Given the description of an element on the screen output the (x, y) to click on. 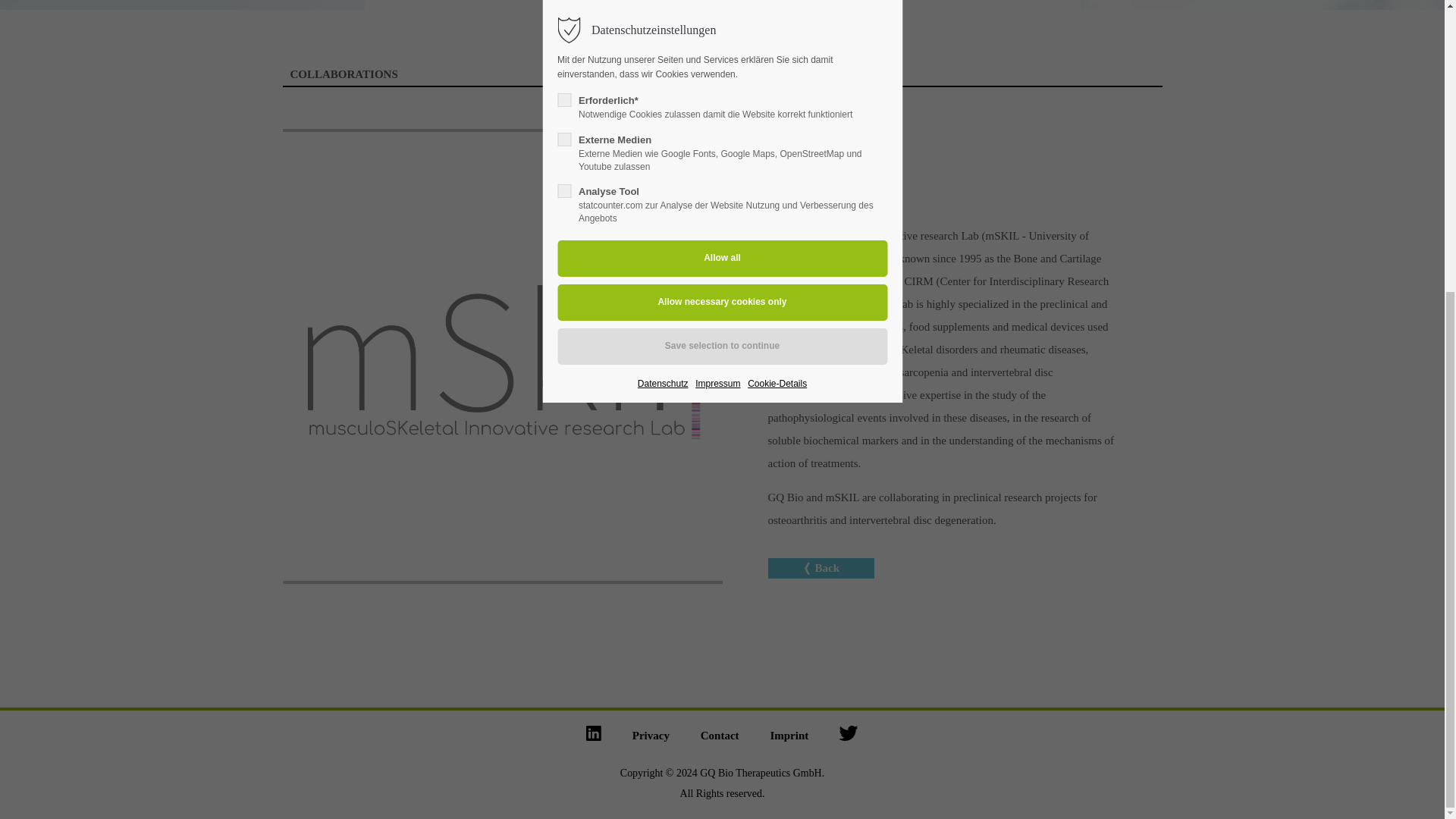
Imprint (789, 735)
Privacy (650, 735)
Contact (719, 735)
